Given the description of an element on the screen output the (x, y) to click on. 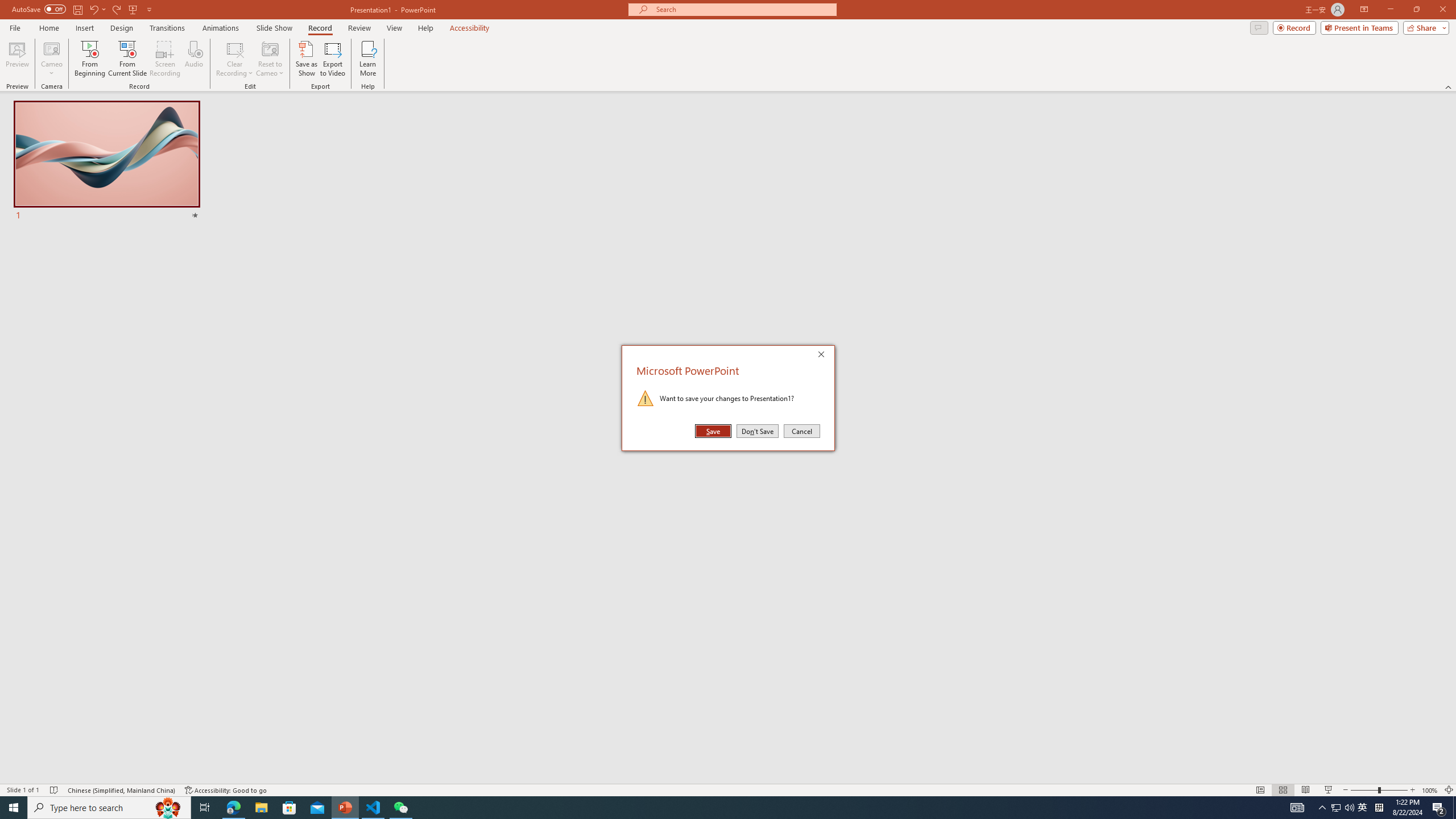
WeChat - 1 running window (400, 807)
Cancel (801, 431)
Action Center, 2 new notifications (1439, 807)
